Given the description of an element on the screen output the (x, y) to click on. 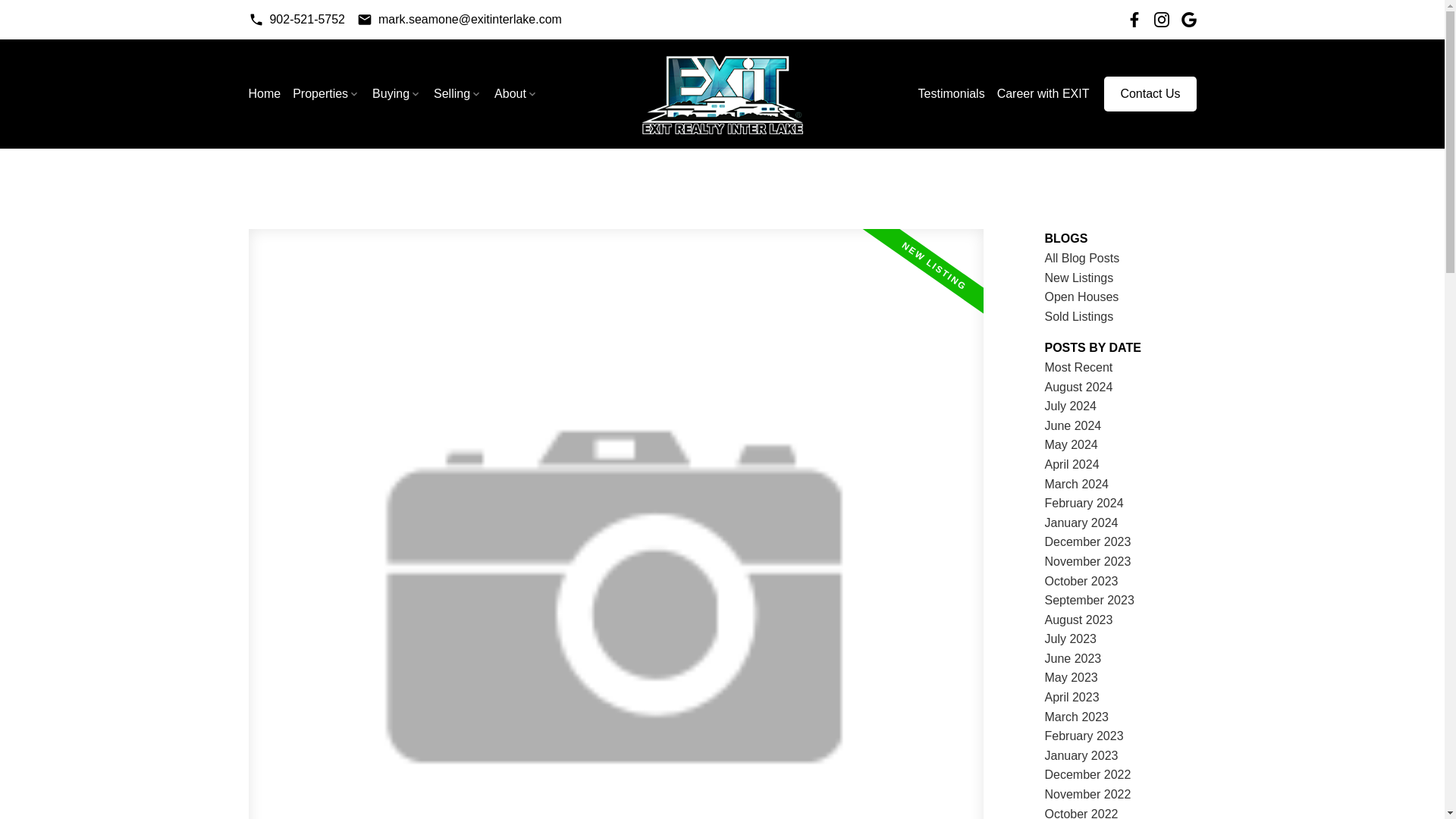
July 2024 (1071, 405)
Open Houses (1082, 296)
Sold Listings (1079, 316)
March 2024 (1077, 483)
February 2024 (1084, 502)
June 2024 (1073, 425)
All Blog Posts (1082, 257)
May 2024 (1071, 444)
Career with EXIT (1043, 94)
April 2024 (1072, 463)
